Given the description of an element on the screen output the (x, y) to click on. 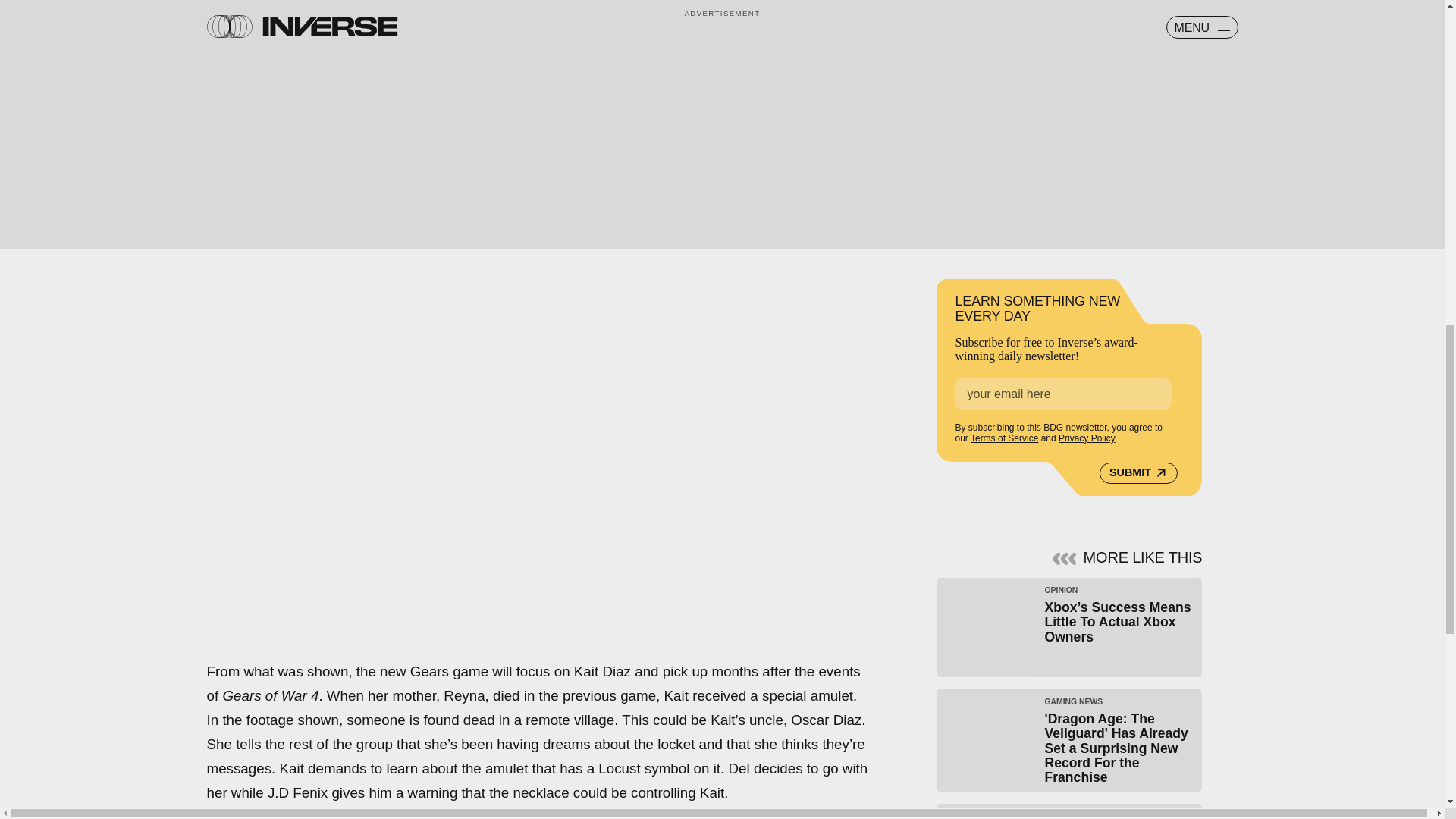
Terms of Service (1004, 438)
SUBMIT (1138, 471)
Privacy Policy (1086, 438)
